Given the description of an element on the screen output the (x, y) to click on. 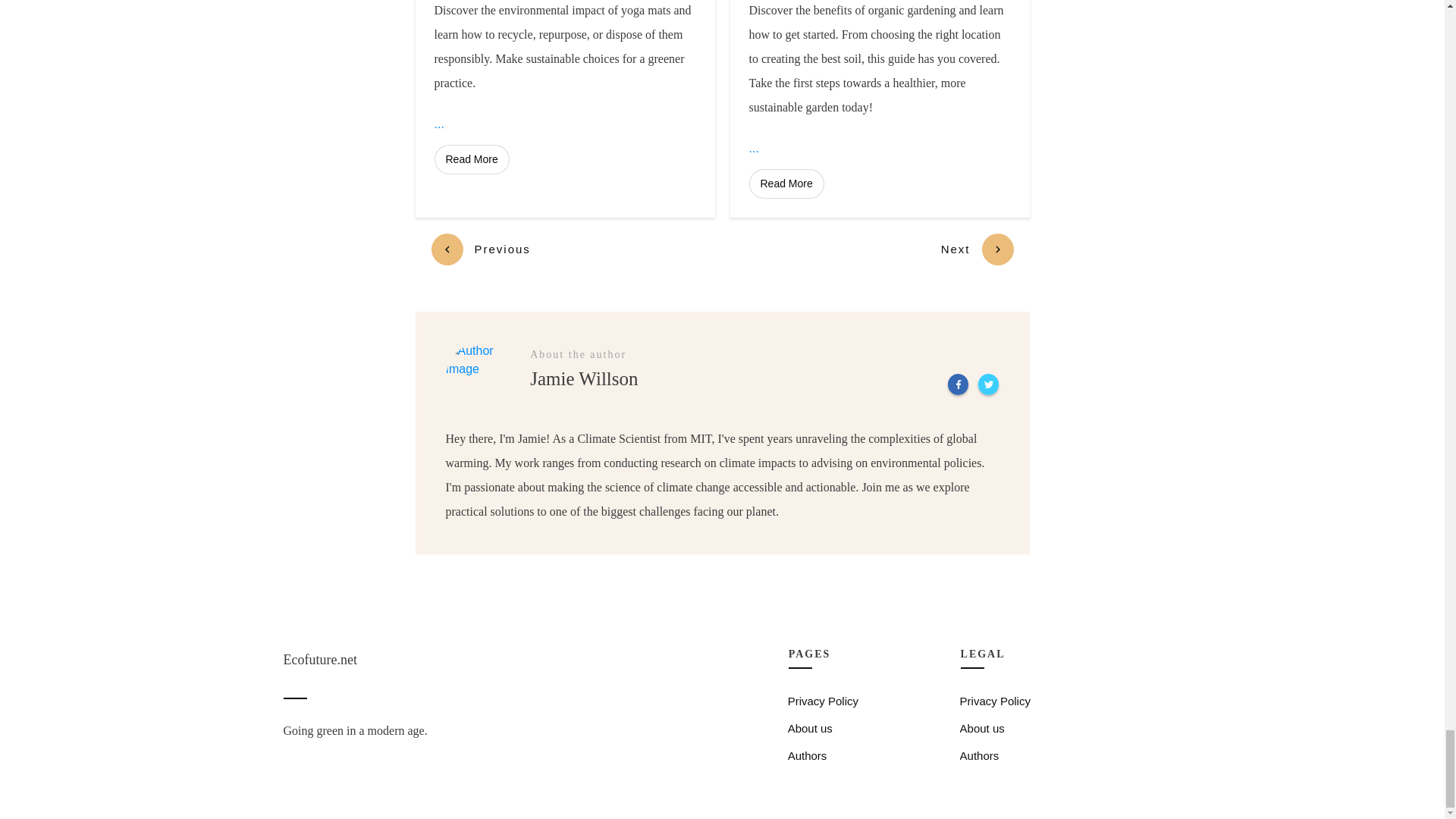
Read More (470, 159)
